Given the description of an element on the screen output the (x, y) to click on. 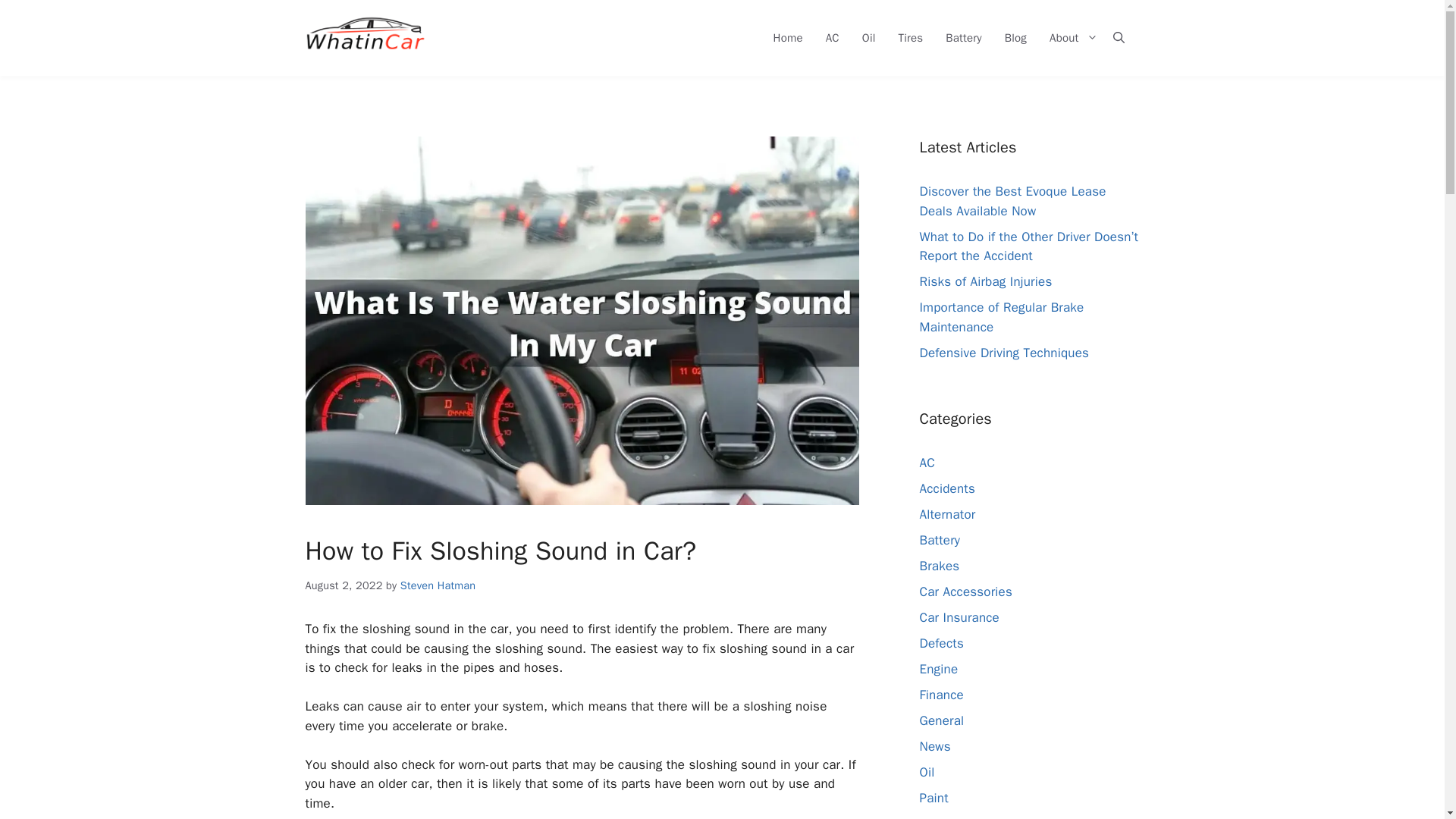
Brakes (938, 565)
AC (926, 462)
Battery (963, 37)
Discover the Best Evoque Lease Deals Available Now  (1011, 201)
AC (831, 37)
Defensive Driving Techniques (1003, 351)
Finance (940, 694)
Steven Hatman (438, 585)
View all posts by Steven Hatman (438, 585)
Blog (1015, 37)
Defects (940, 643)
Risks of Airbag Injuries (984, 281)
About (1067, 37)
Battery (938, 539)
Accidents (946, 488)
